Given the description of an element on the screen output the (x, y) to click on. 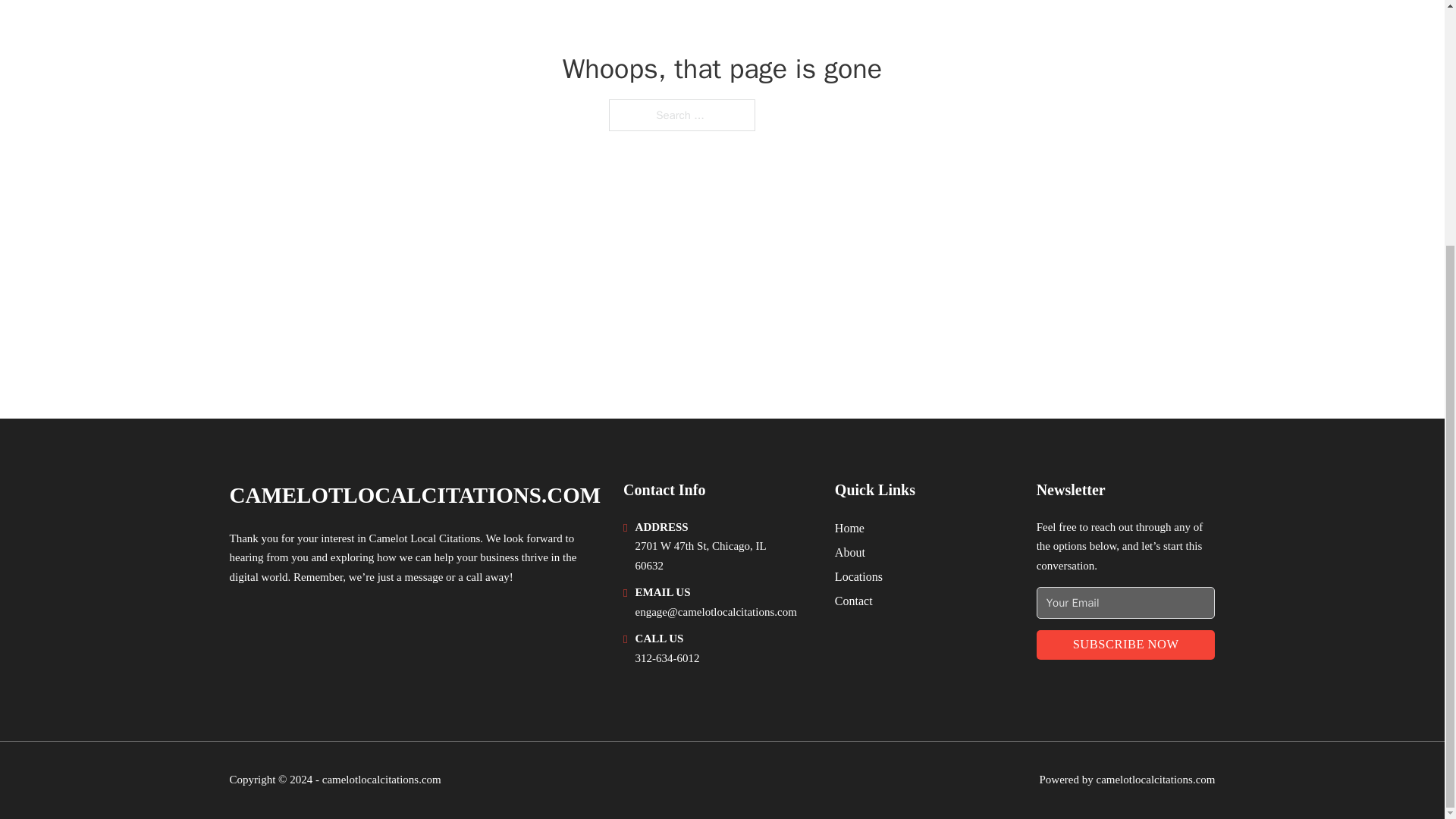
About (849, 552)
Contact (853, 600)
Home (849, 527)
Locations (858, 576)
SUBSCRIBE NOW (1125, 644)
312-634-6012 (667, 657)
CAMELOTLOCALCITATIONS.COM (413, 495)
